Given the description of an element on the screen output the (x, y) to click on. 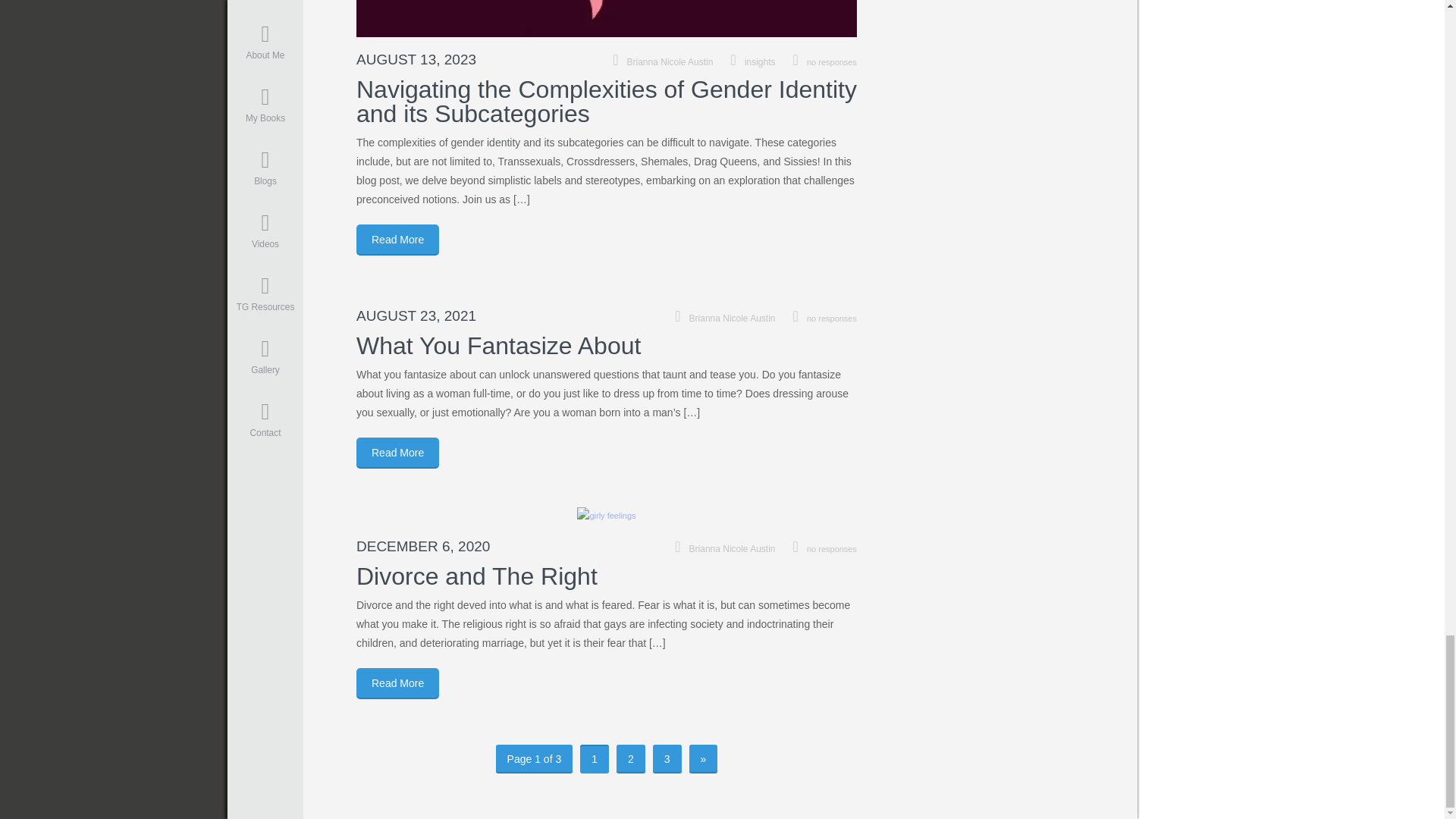
Brianna Nicole Austin (670, 61)
Page 3 (666, 758)
insights (760, 61)
Page 2 (630, 758)
